Given the description of an element on the screen output the (x, y) to click on. 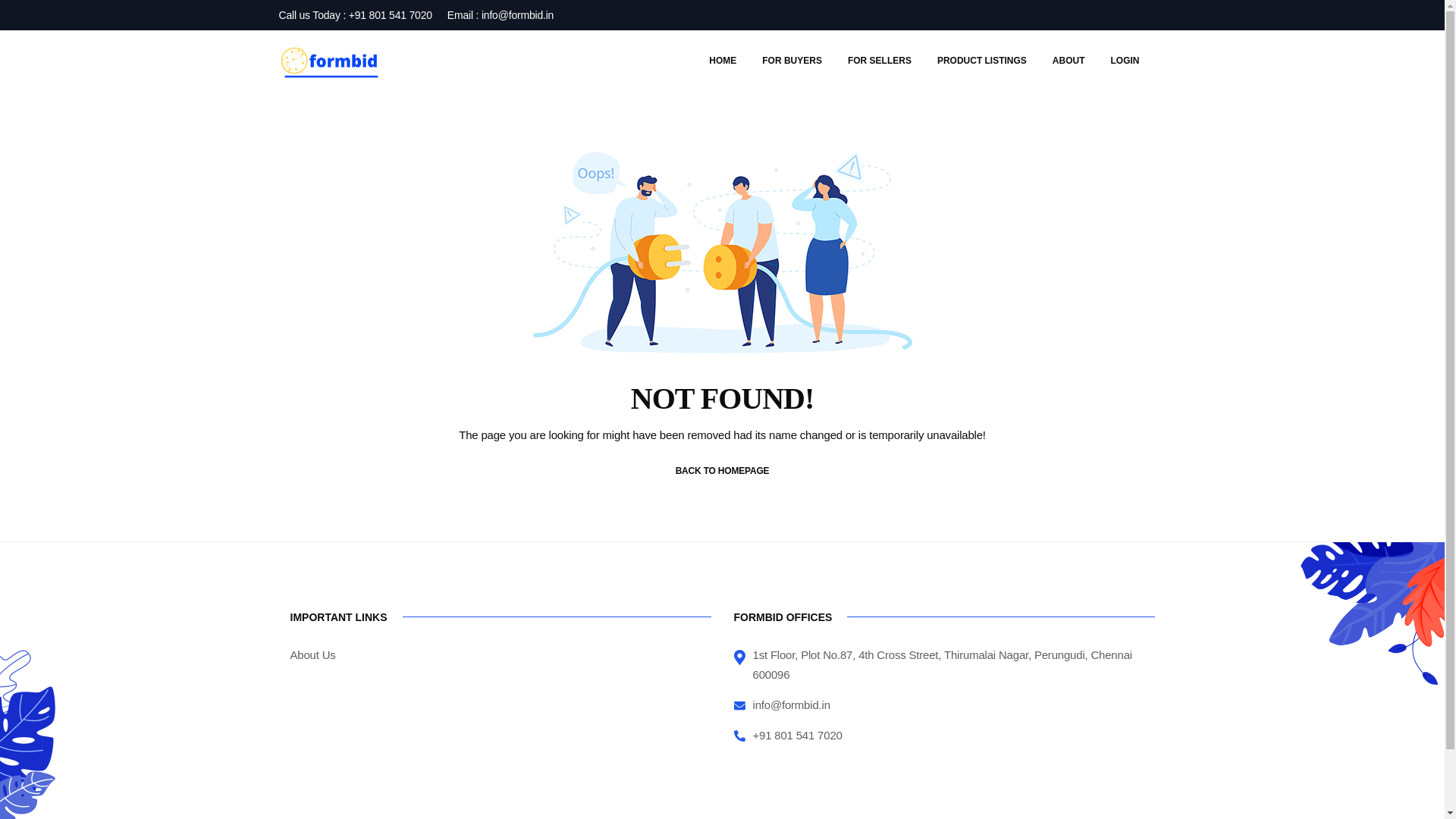
PRODUCT LISTINGS (982, 60)
ABOUT (1068, 60)
FOR BUYERS (791, 60)
FOR SELLERS (879, 60)
About Us (311, 654)
BACK TO HOMEPAGE (722, 470)
